Given the description of an element on the screen output the (x, y) to click on. 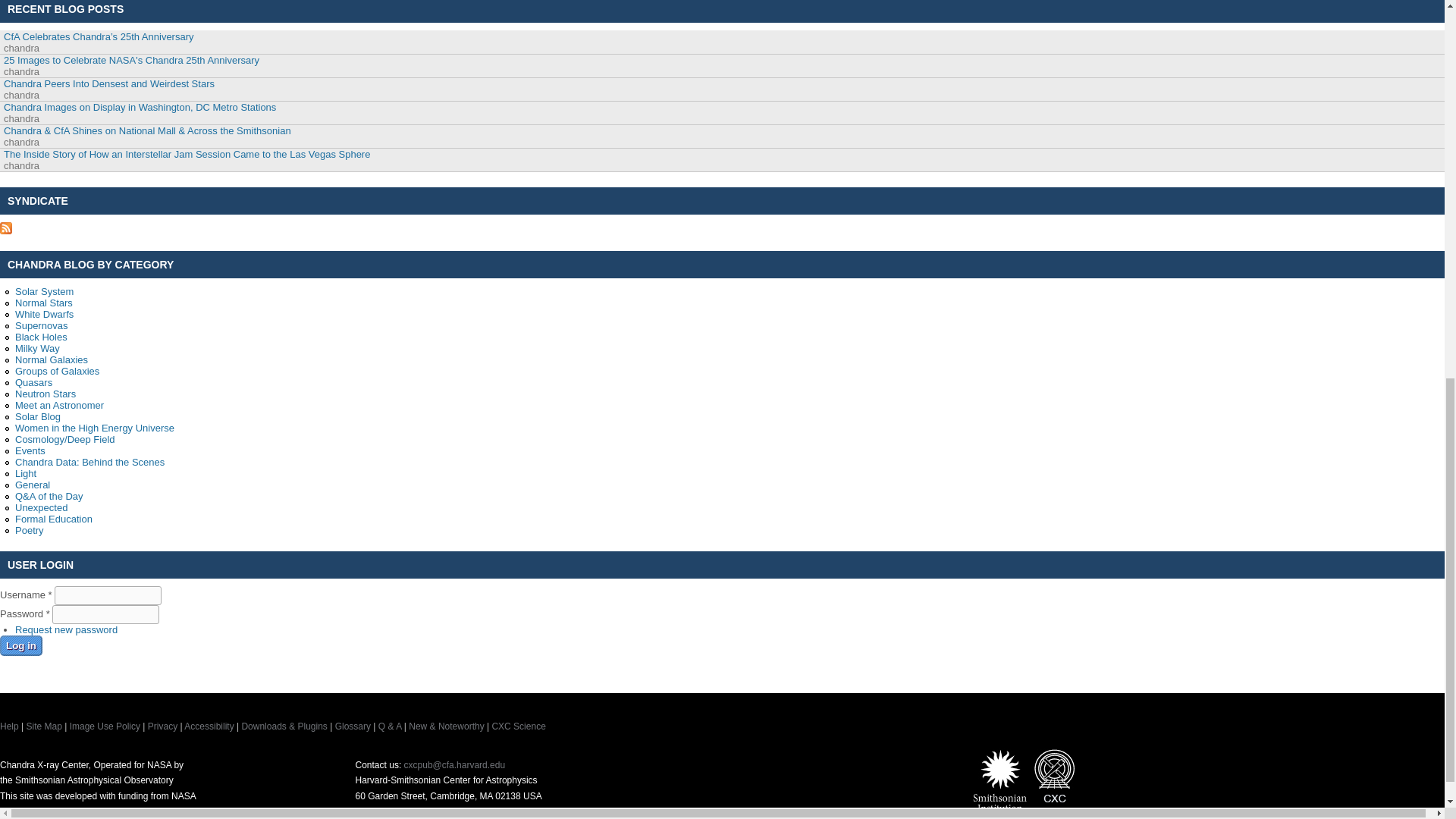
Quasars (33, 382)
Neutron Stars (44, 393)
Chandra Peers Into Densest and Weirdest Stars (109, 83)
Groups of Galaxies (56, 370)
Milky Way (36, 348)
Solar System (44, 291)
Log in (21, 645)
Supernovas (40, 325)
Women in the High Energy Universe (94, 428)
Normal Stars (43, 302)
